Given the description of an element on the screen output the (x, y) to click on. 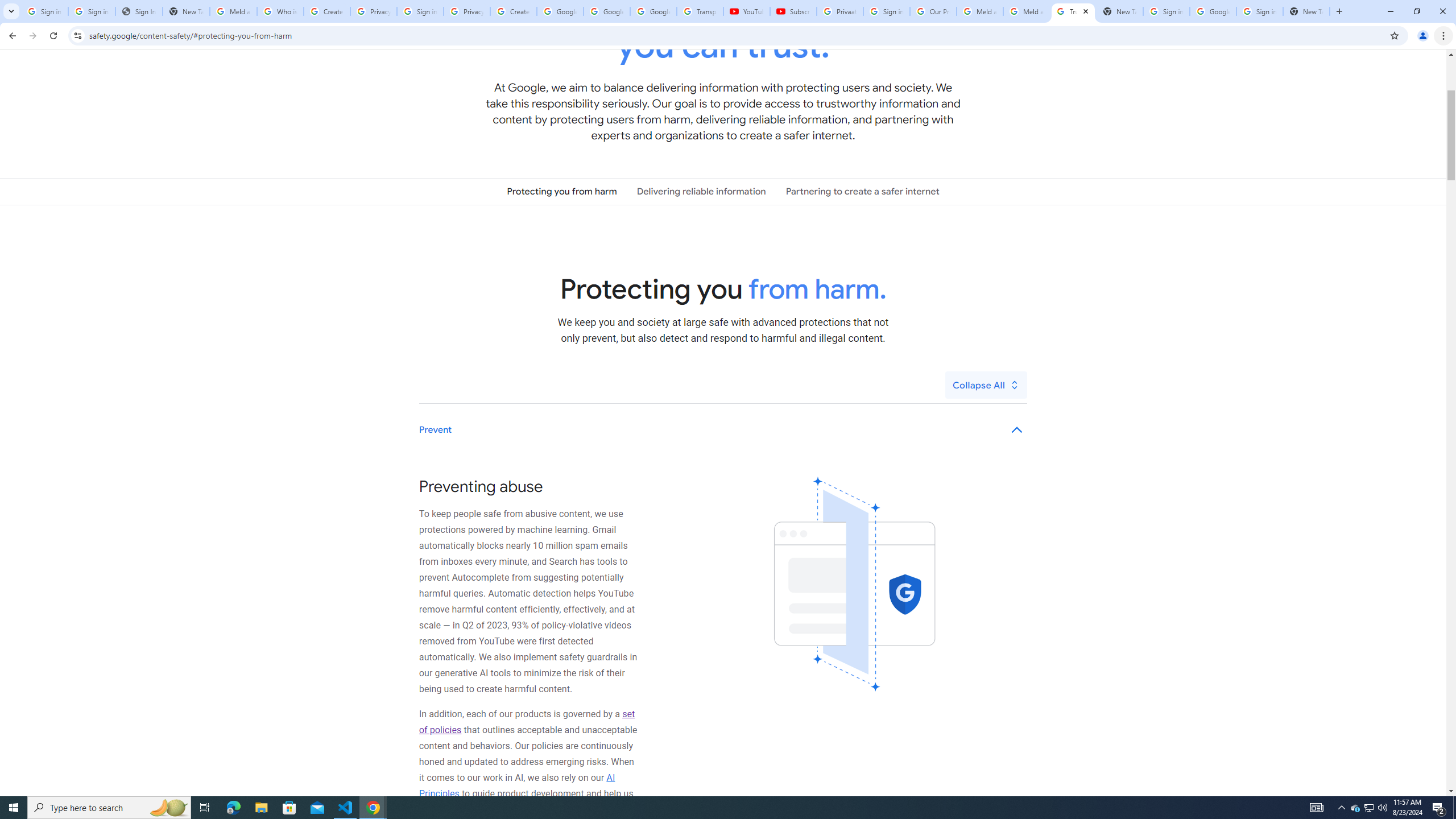
YouTube (745, 11)
Sign in - Google Accounts (1259, 11)
Subscriptions - YouTube (792, 11)
Protecting you from harm (561, 191)
Google Account (652, 11)
Who is my administrator? - Google Account Help (279, 11)
Sign in - Google Accounts (419, 11)
New Tab (1306, 11)
Sign in - Google Accounts (886, 11)
